Given the description of an element on the screen output the (x, y) to click on. 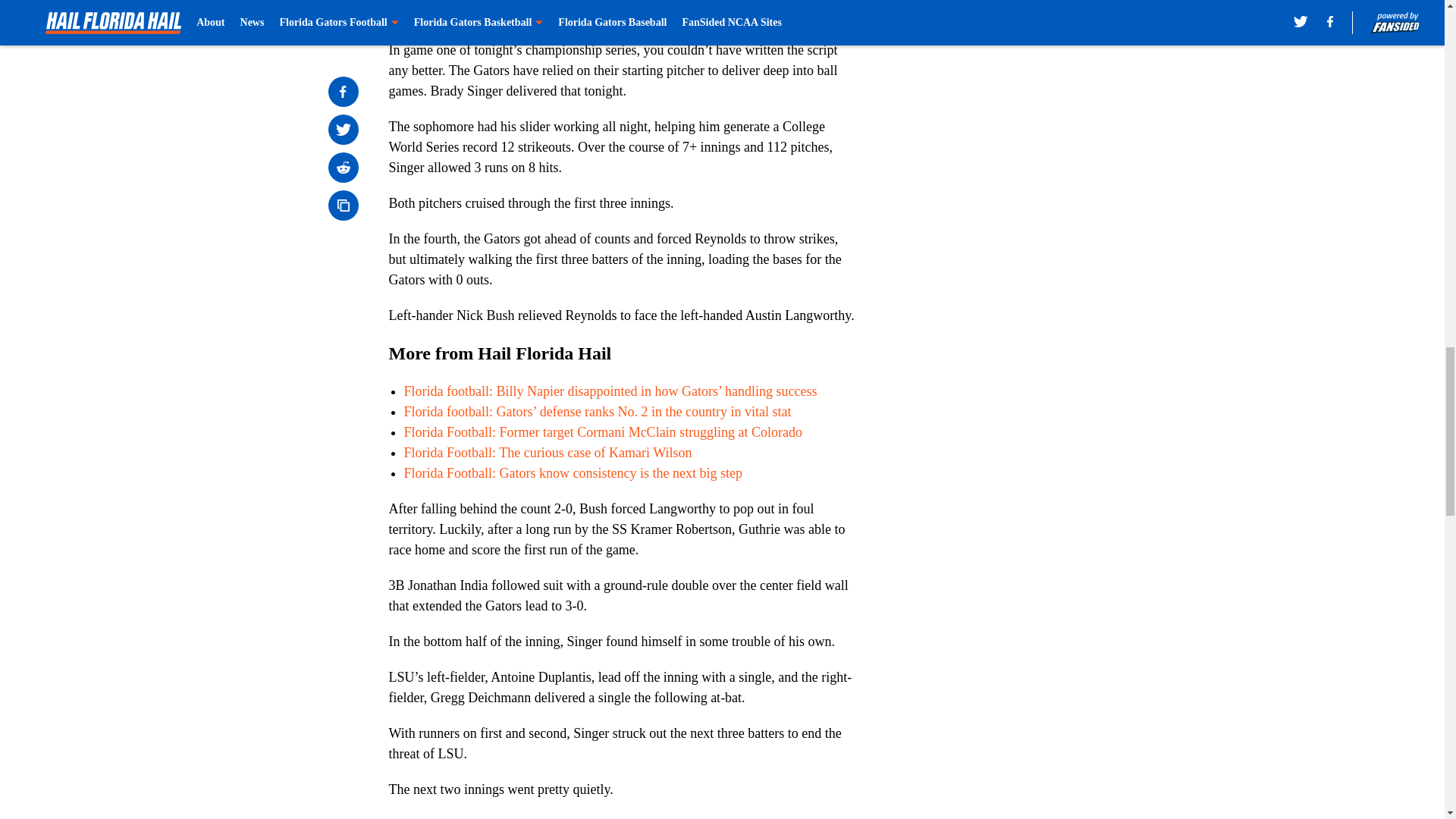
Florida Football: The curious case of Kamari Wilson (547, 452)
